Given the description of an element on the screen output the (x, y) to click on. 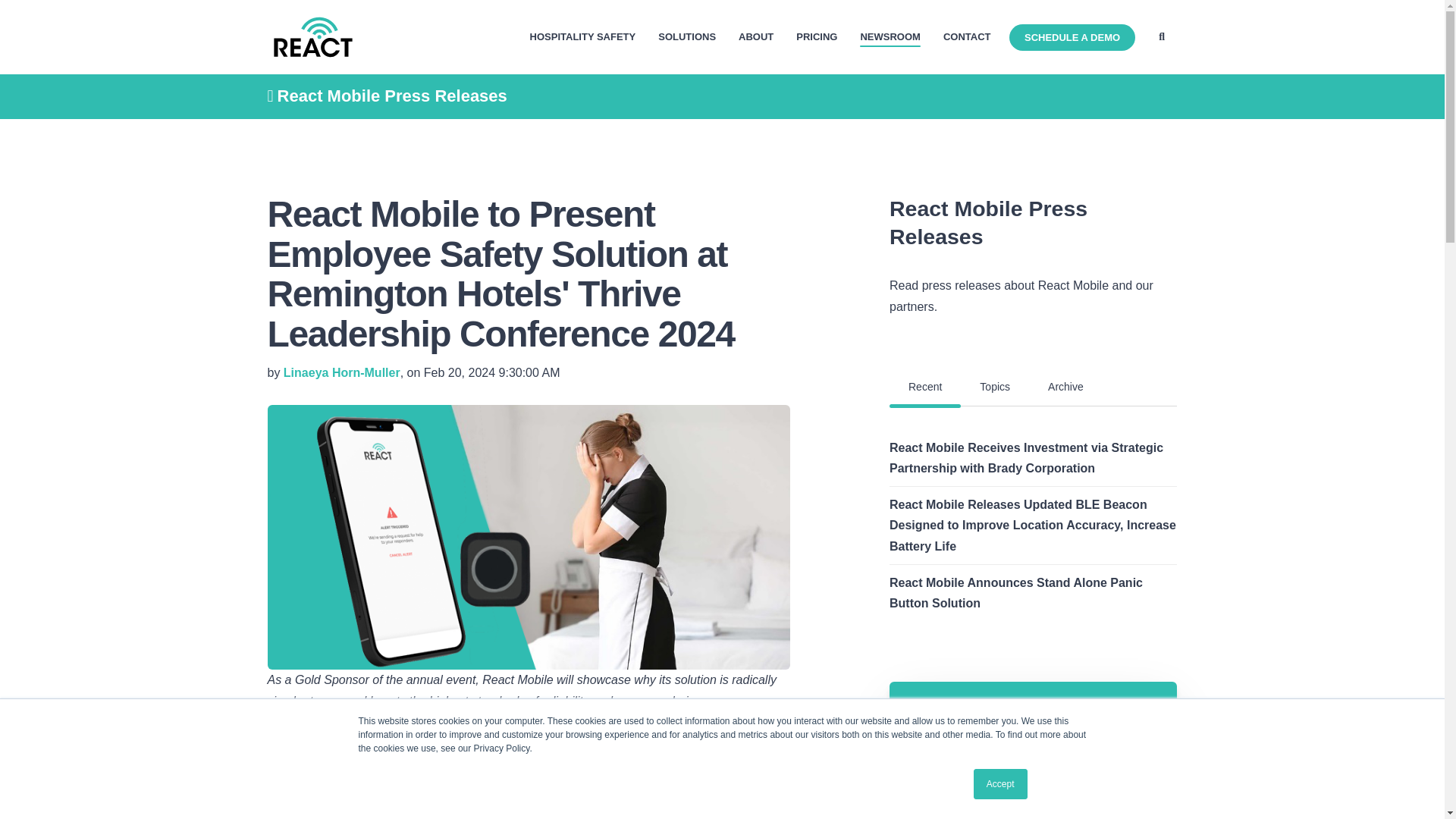
CONTACT (967, 37)
Accept (1000, 784)
React Mobile Logo (312, 36)
NEWSROOM (890, 37)
SCHEDULE A DEMO (1072, 37)
SOLUTIONS (687, 37)
PRICING (816, 37)
HOSPITALITY SAFETY (582, 37)
ABOUT (755, 37)
